Given the description of an element on the screen output the (x, y) to click on. 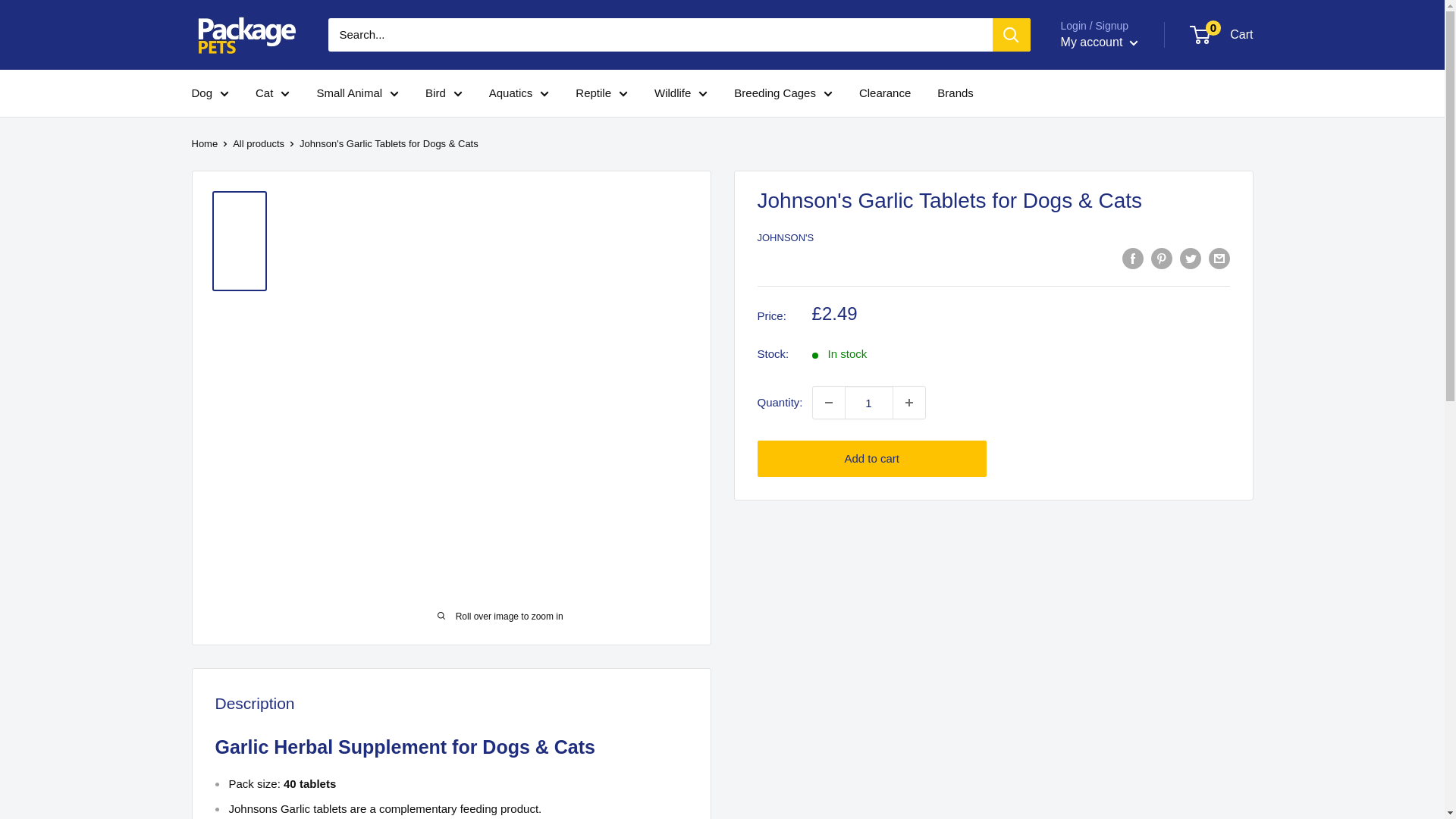
1 (868, 402)
Decrease quantity by 1 (828, 402)
Increase quantity by 1 (908, 402)
